Given the description of an element on the screen output the (x, y) to click on. 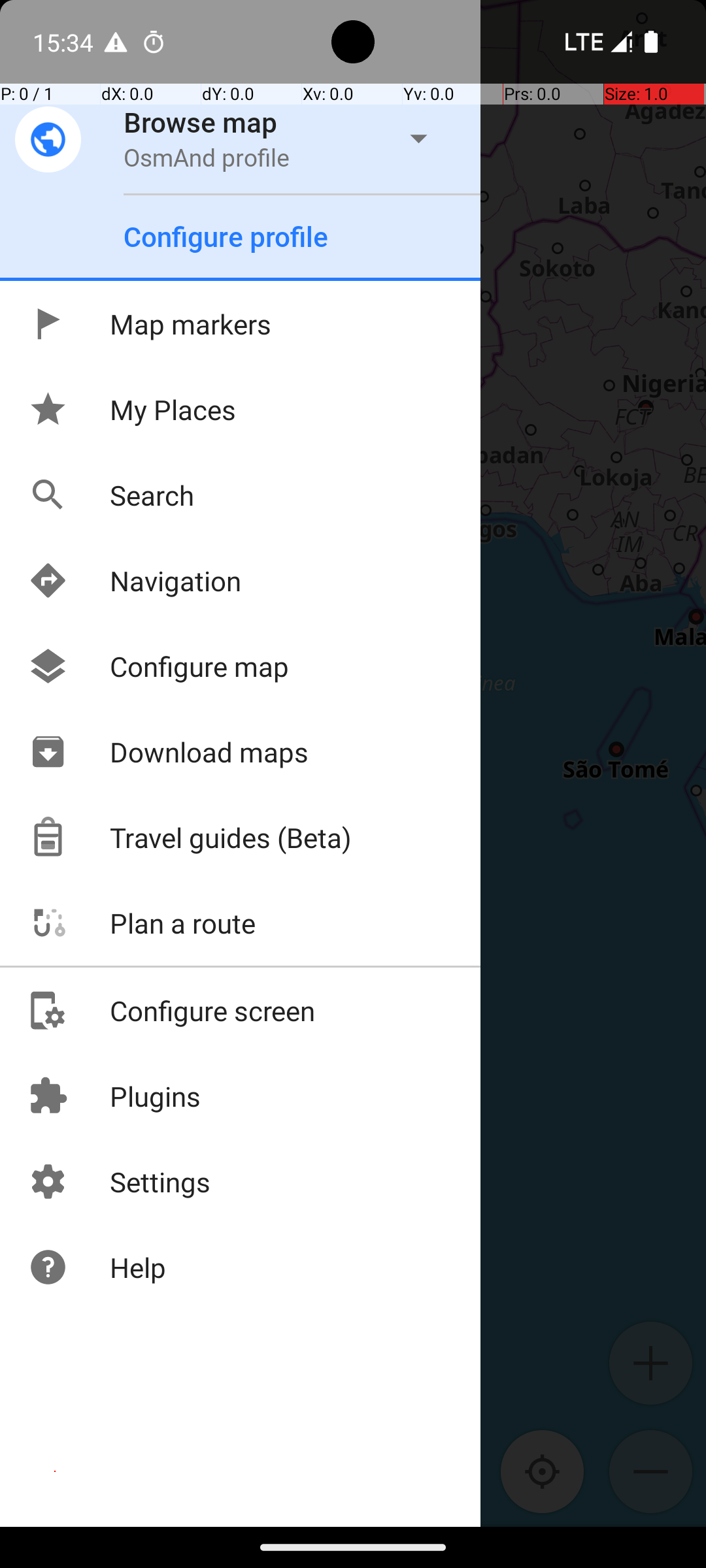
Browse map Element type: android.widget.TextView (200, 121)
OsmAnd profile Element type: android.widget.TextView (206, 156)
Configure profile Element type: android.widget.TextView (225, 235)
Map markers Element type: android.widget.TextView (149, 323)
My Places Element type: android.widget.TextView (131, 409)
Navigation Element type: android.widget.TextView (134, 580)
Download maps Element type: android.widget.TextView (168, 751)
Travel guides (Beta) Element type: android.widget.TextView (189, 837)
Plan a route Element type: android.widget.TextView (141, 922)
Configure screen Element type: android.widget.TextView (171, 1010)
Plugins Element type: android.widget.TextView (114, 1095)
Help Element type: android.widget.TextView (96, 1266)
